Given the description of an element on the screen output the (x, y) to click on. 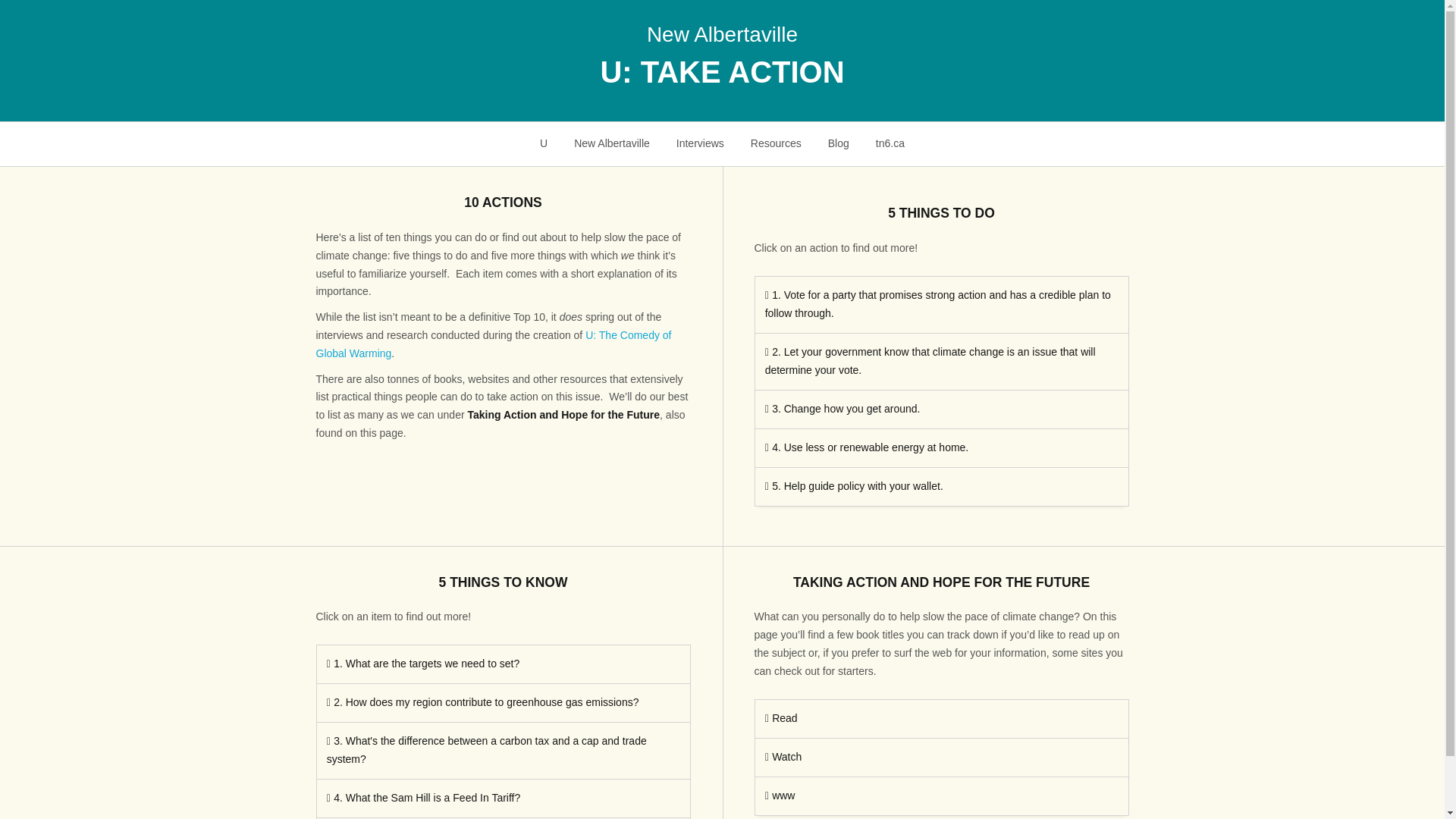
Interviews (699, 143)
tn6.ca (889, 143)
U: The Comedy of Global Warming (493, 344)
Blog (837, 143)
Resources (774, 143)
U (543, 143)
New Albertaville (611, 143)
